Given the description of an element on the screen output the (x, y) to click on. 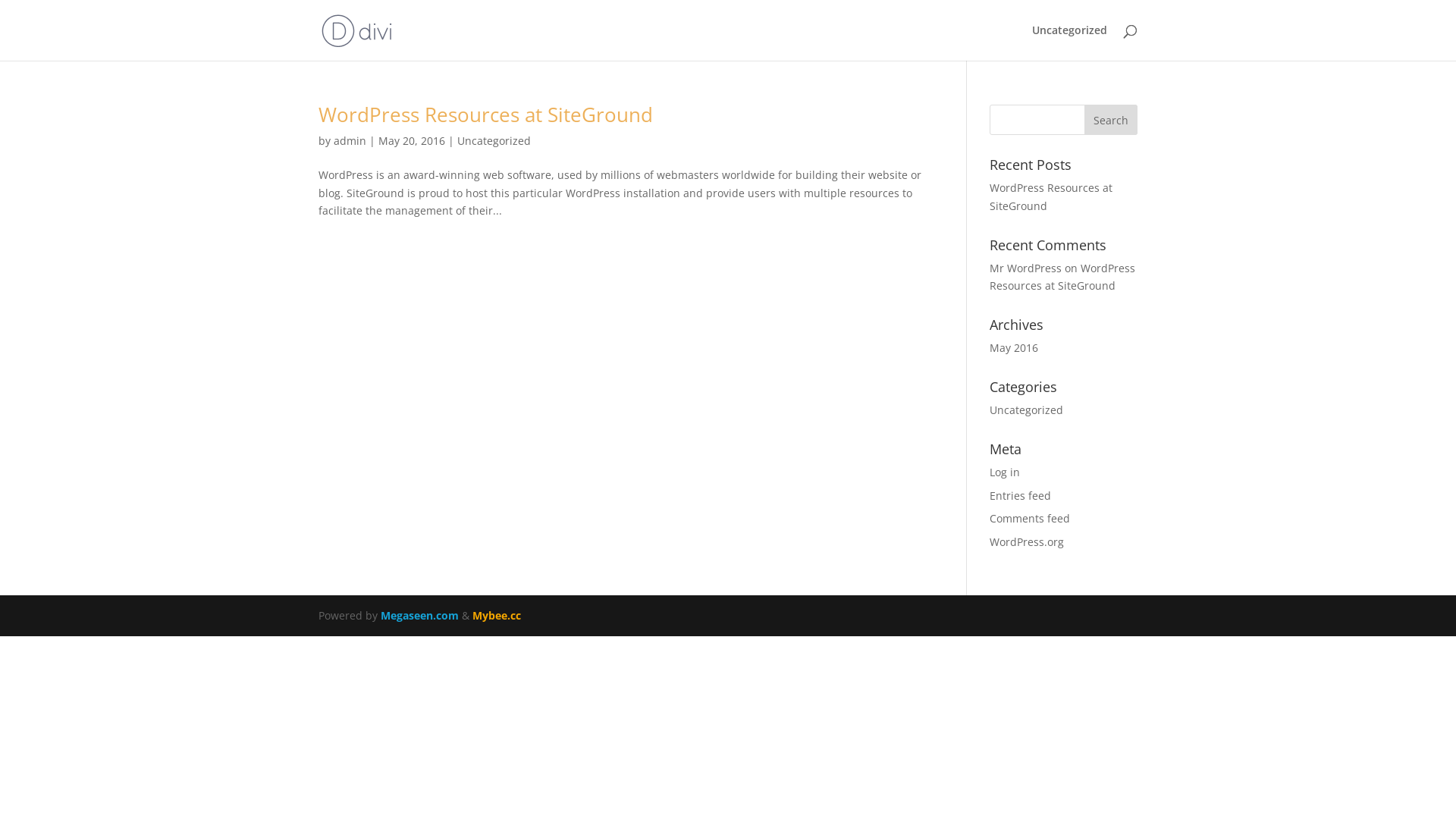
Uncategorized Element type: text (493, 140)
Search Element type: text (1110, 119)
Entries feed Element type: text (1020, 495)
Mr WordPress Element type: text (1025, 267)
WordPress Resources at SiteGround Element type: text (1062, 276)
May 2016 Element type: text (1013, 347)
Log in Element type: text (1004, 471)
Uncategorized Element type: text (1026, 409)
WordPress Resources at SiteGround Element type: text (485, 114)
Mybee.cc Element type: text (496, 615)
WordPress Resources at SiteGround Element type: text (1050, 196)
admin Element type: text (349, 140)
Uncategorized Element type: text (1069, 42)
WordPress.org Element type: text (1026, 541)
Comments feed Element type: text (1029, 518)
Megaseen.com Element type: text (419, 615)
